Given the description of an element on the screen output the (x, y) to click on. 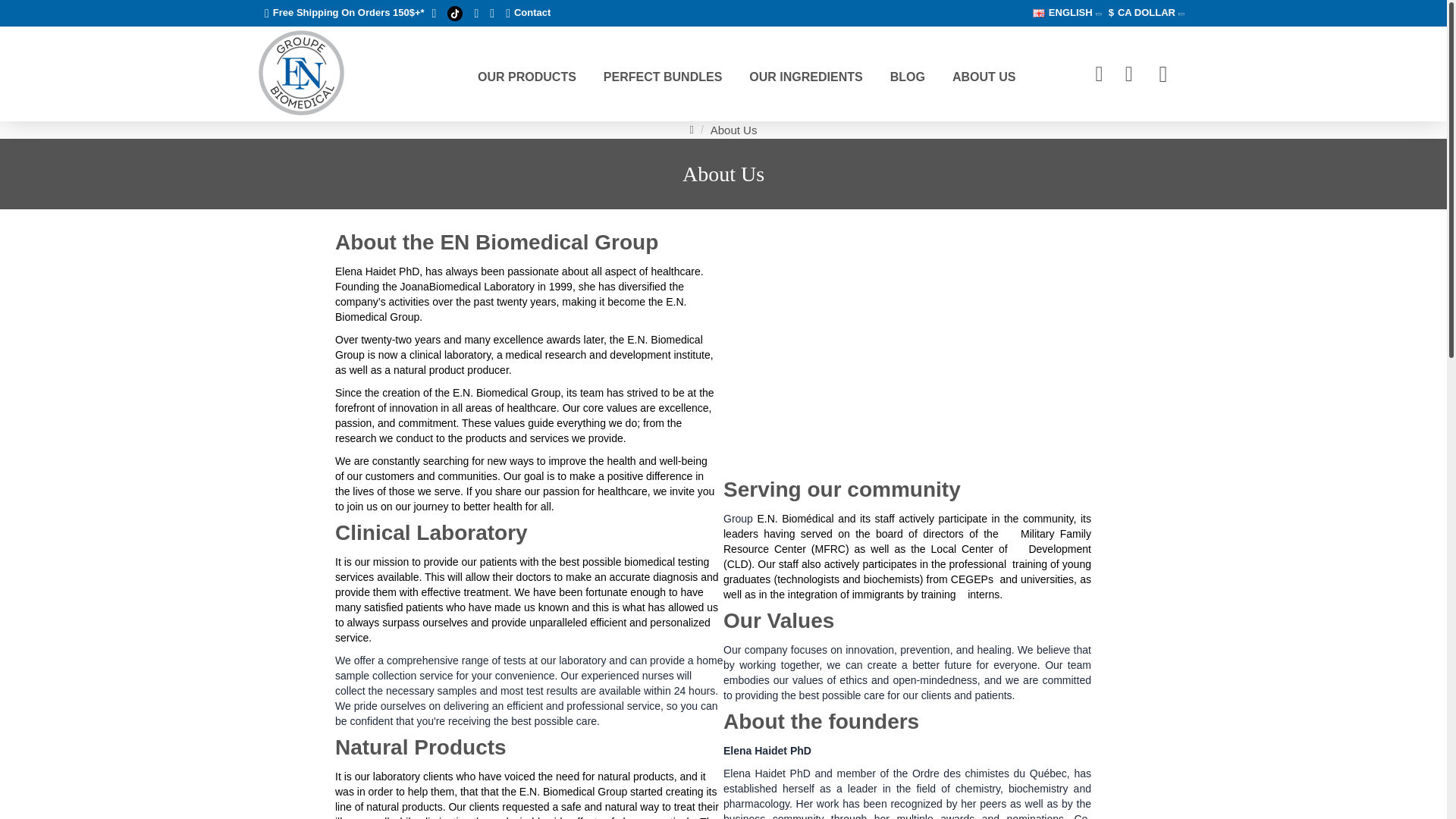
English (1038, 13)
Contact (528, 13)
OUR INGREDIENTS (805, 73)
ENGLISH (1062, 12)
OUR PRODUCTS (526, 73)
PERFECT BUNDLES (662, 73)
ABOUT US (984, 73)
